Given the description of an element on the screen output the (x, y) to click on. 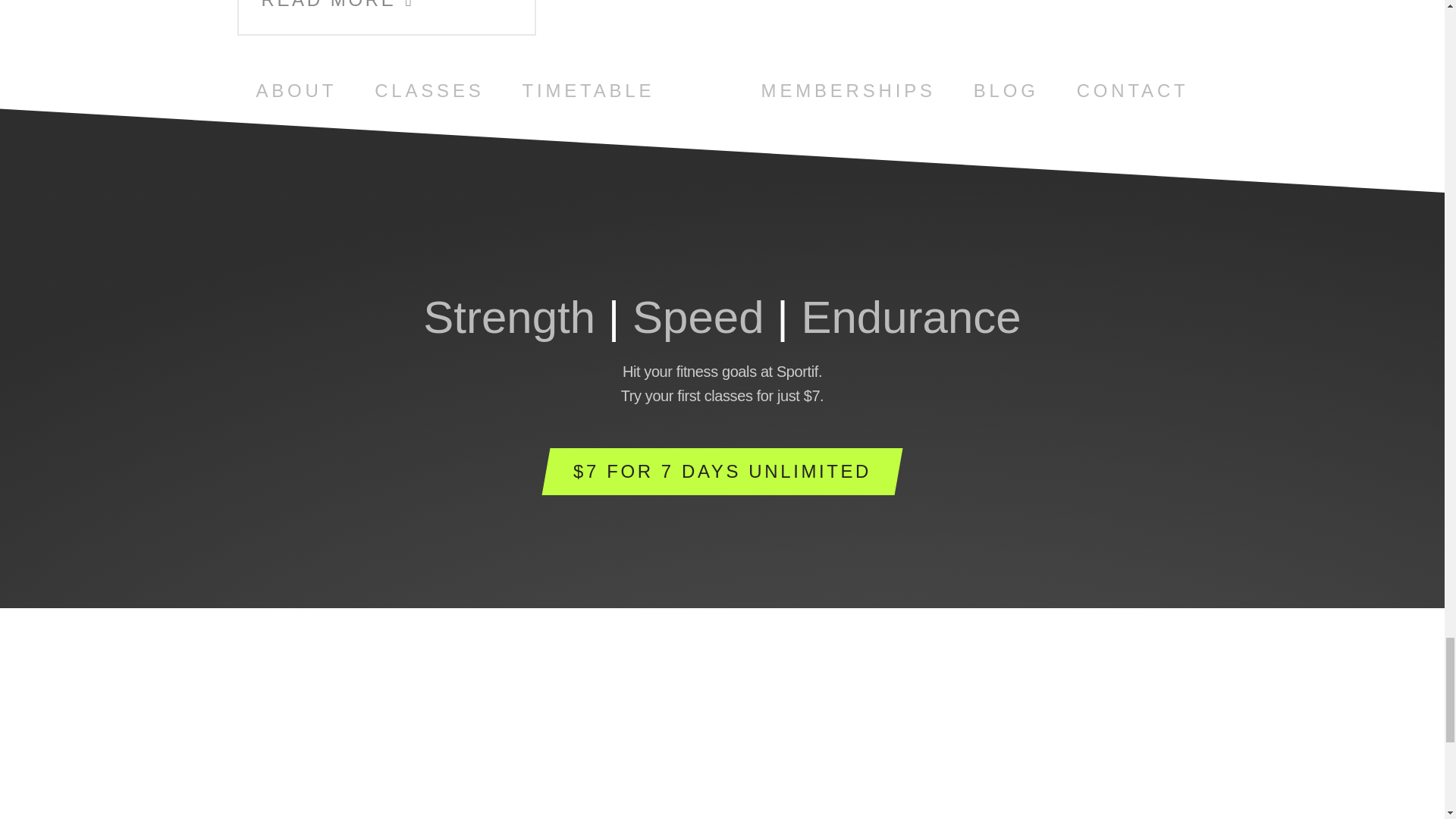
READ MORE (336, 5)
